Given the description of an element on the screen output the (x, y) to click on. 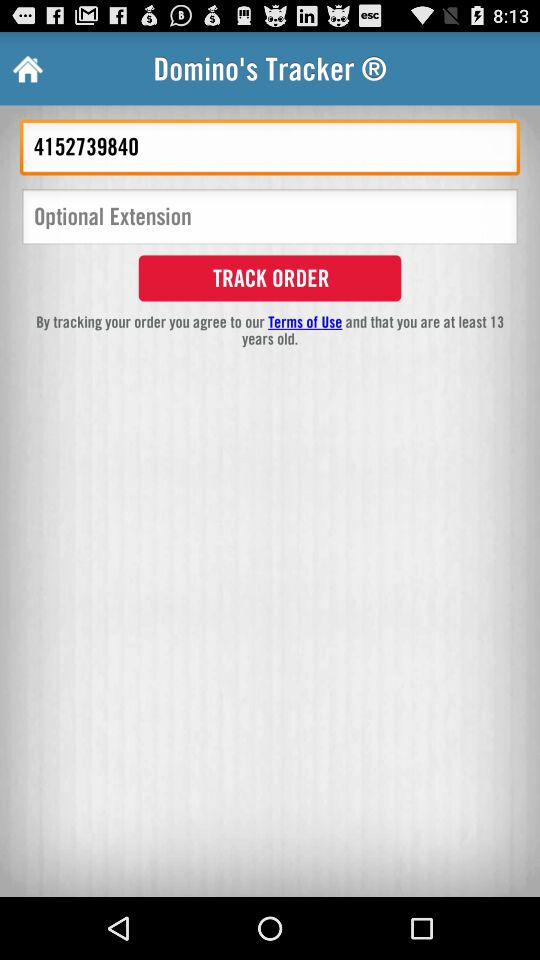
add extension number (269, 218)
